Given the description of an element on the screen output the (x, y) to click on. 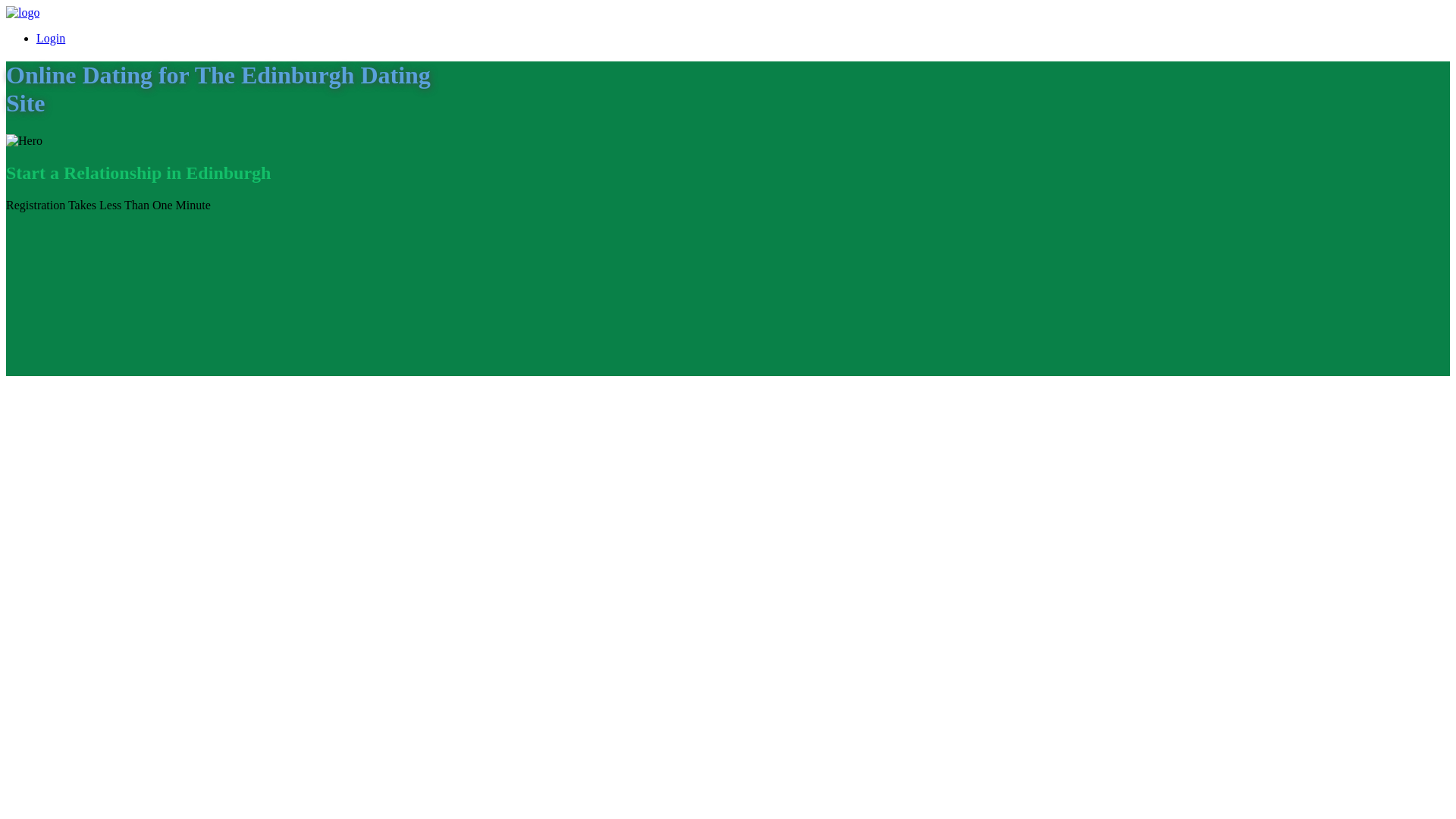
Login (50, 38)
Home (22, 11)
